Given the description of an element on the screen output the (x, y) to click on. 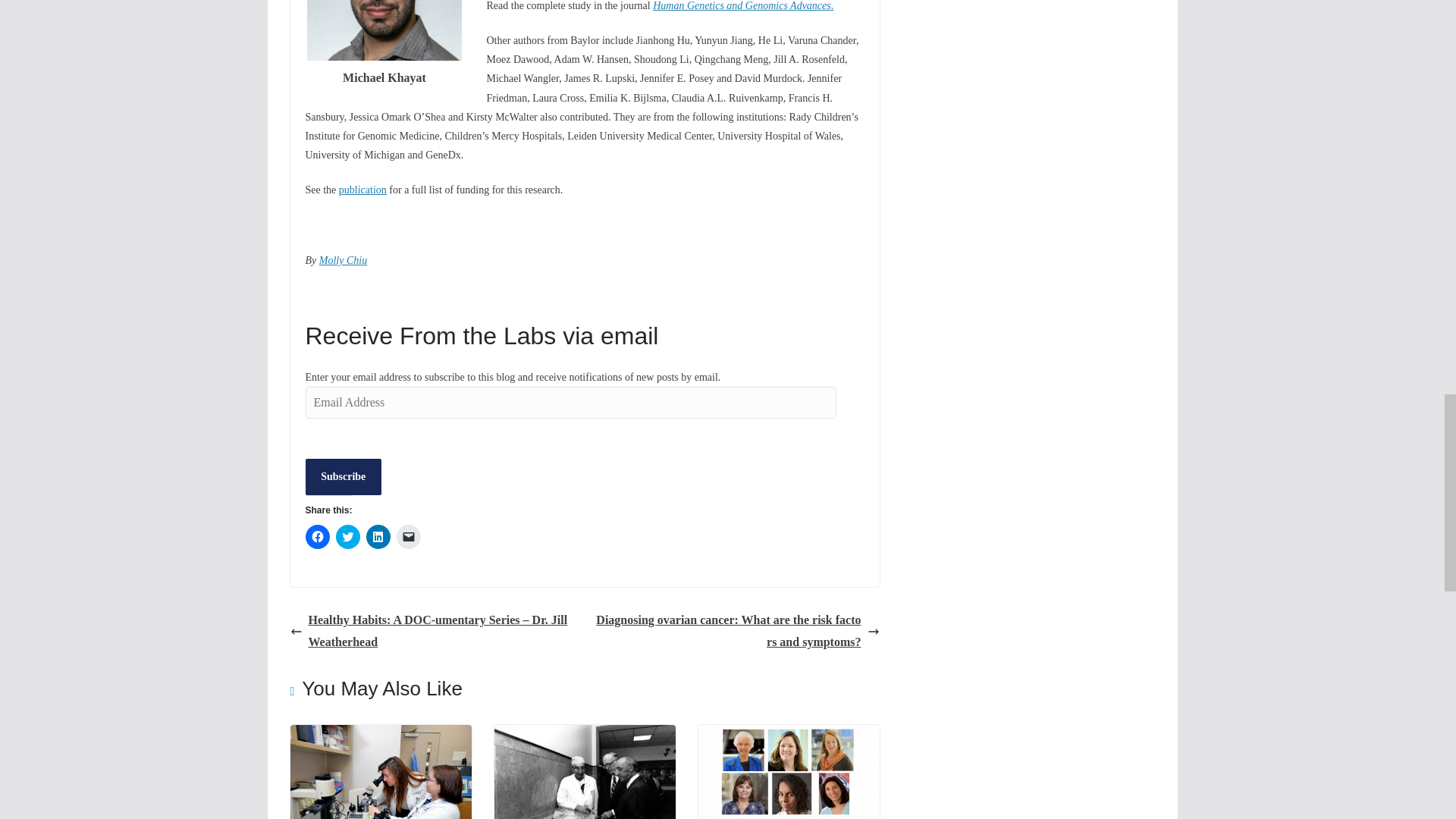
Click to share on LinkedIn (377, 536)
Click to share on Twitter (346, 536)
Click to email a link to a friend (408, 536)
Click to share on Facebook (316, 536)
